Given the description of an element on the screen output the (x, y) to click on. 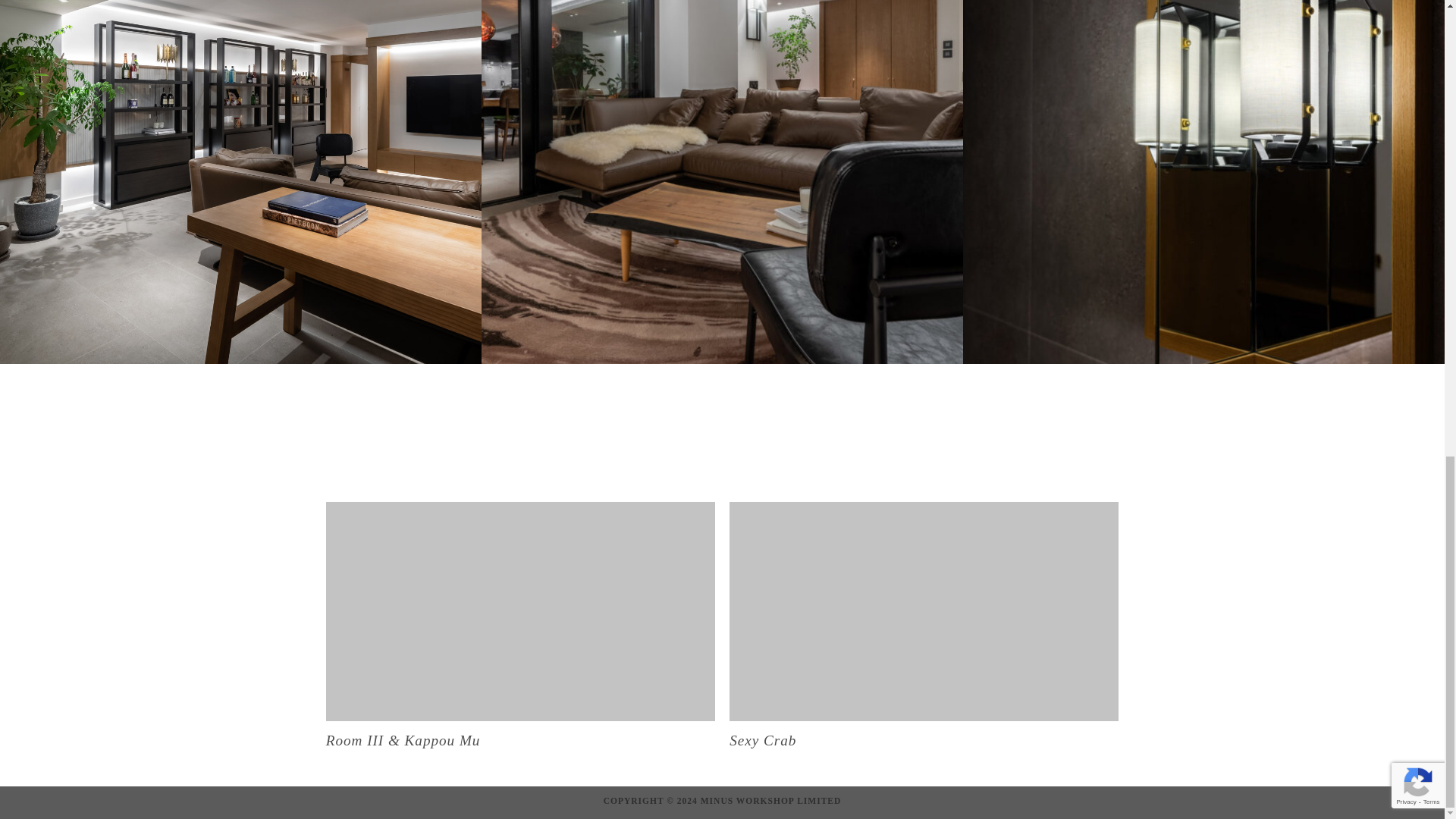
Sexy Crab (923, 637)
The Traveller 6 (520, 611)
The Traveller 7 (923, 611)
